Given the description of an element on the screen output the (x, y) to click on. 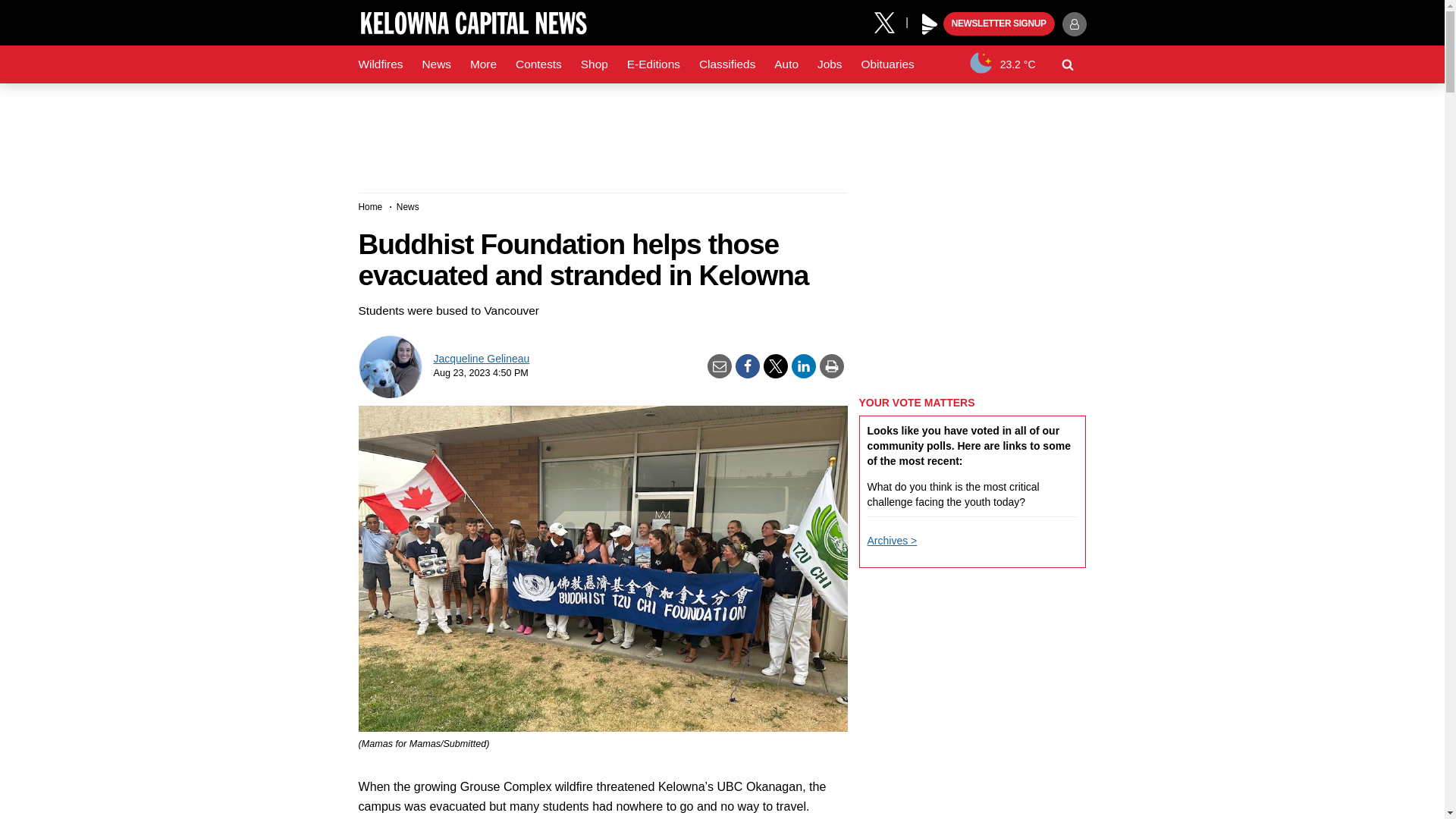
News (435, 64)
Play (929, 24)
Black Press Media (929, 24)
NEWSLETTER SIGNUP (998, 24)
X (889, 21)
Wildfires (380, 64)
